Given the description of an element on the screen output the (x, y) to click on. 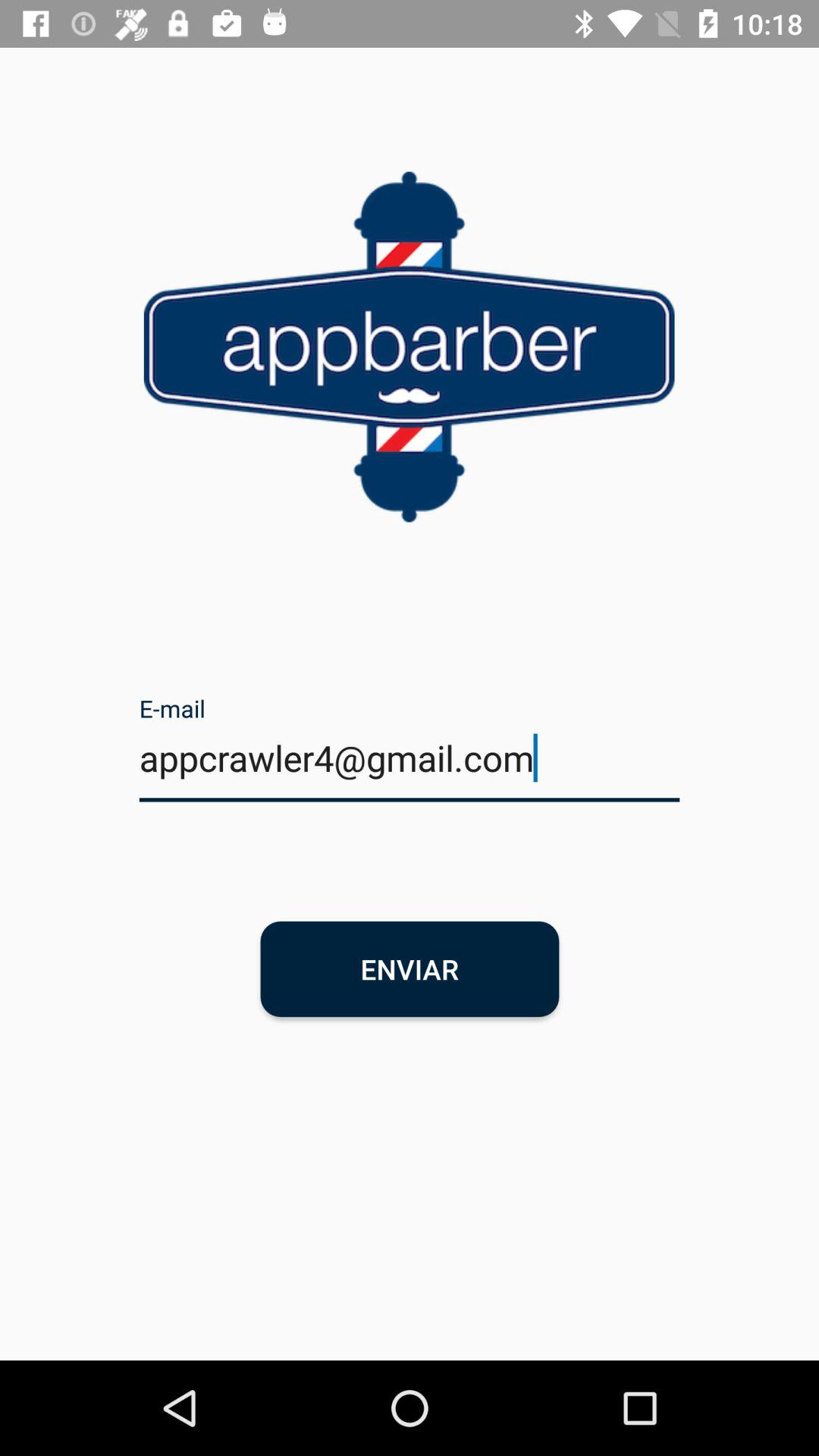
flip to enviar item (409, 968)
